Given the description of an element on the screen output the (x, y) to click on. 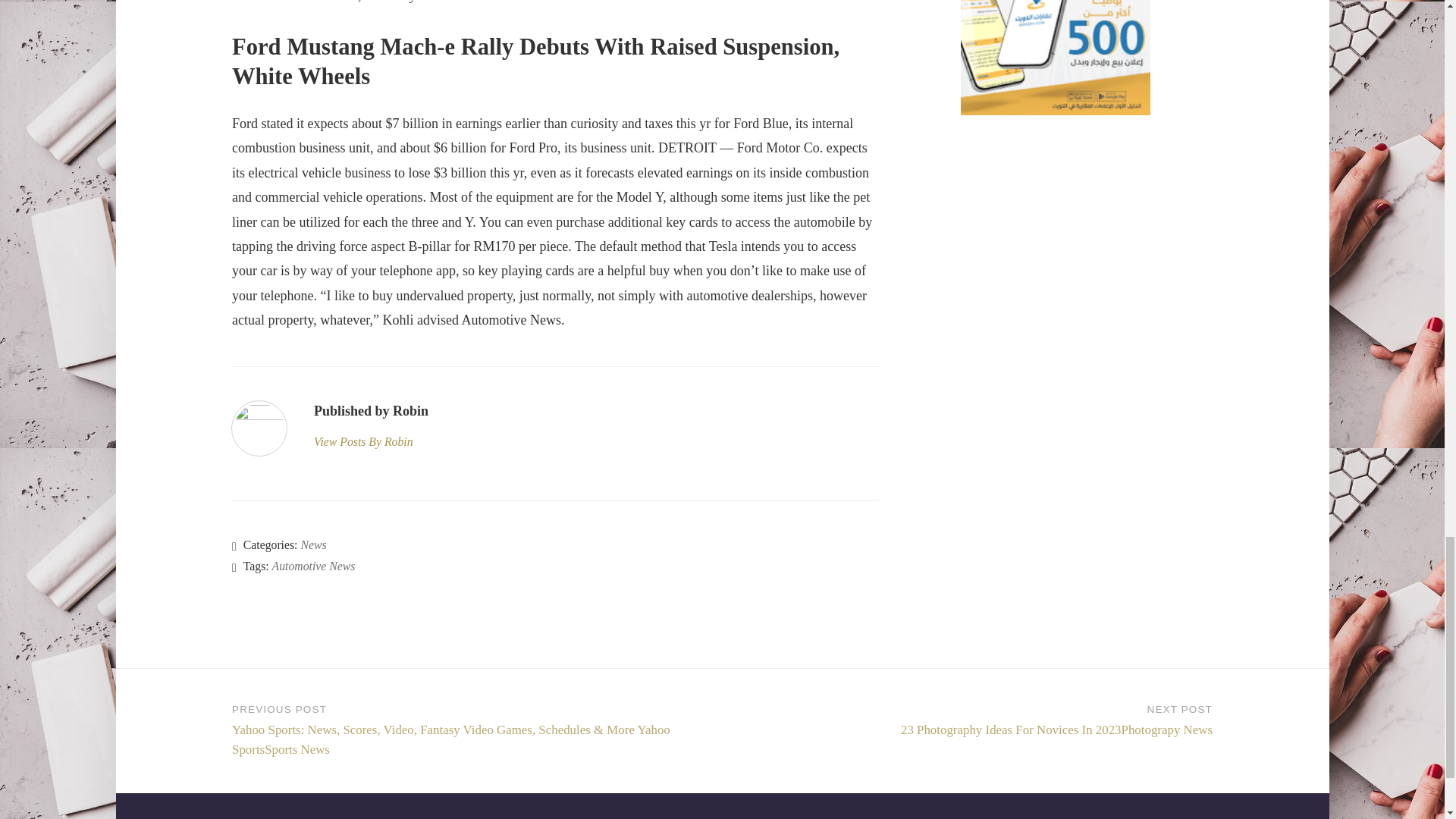
View Posts By Robin (371, 442)
Automotive News (313, 565)
News (312, 544)
